Given the description of an element on the screen output the (x, y) to click on. 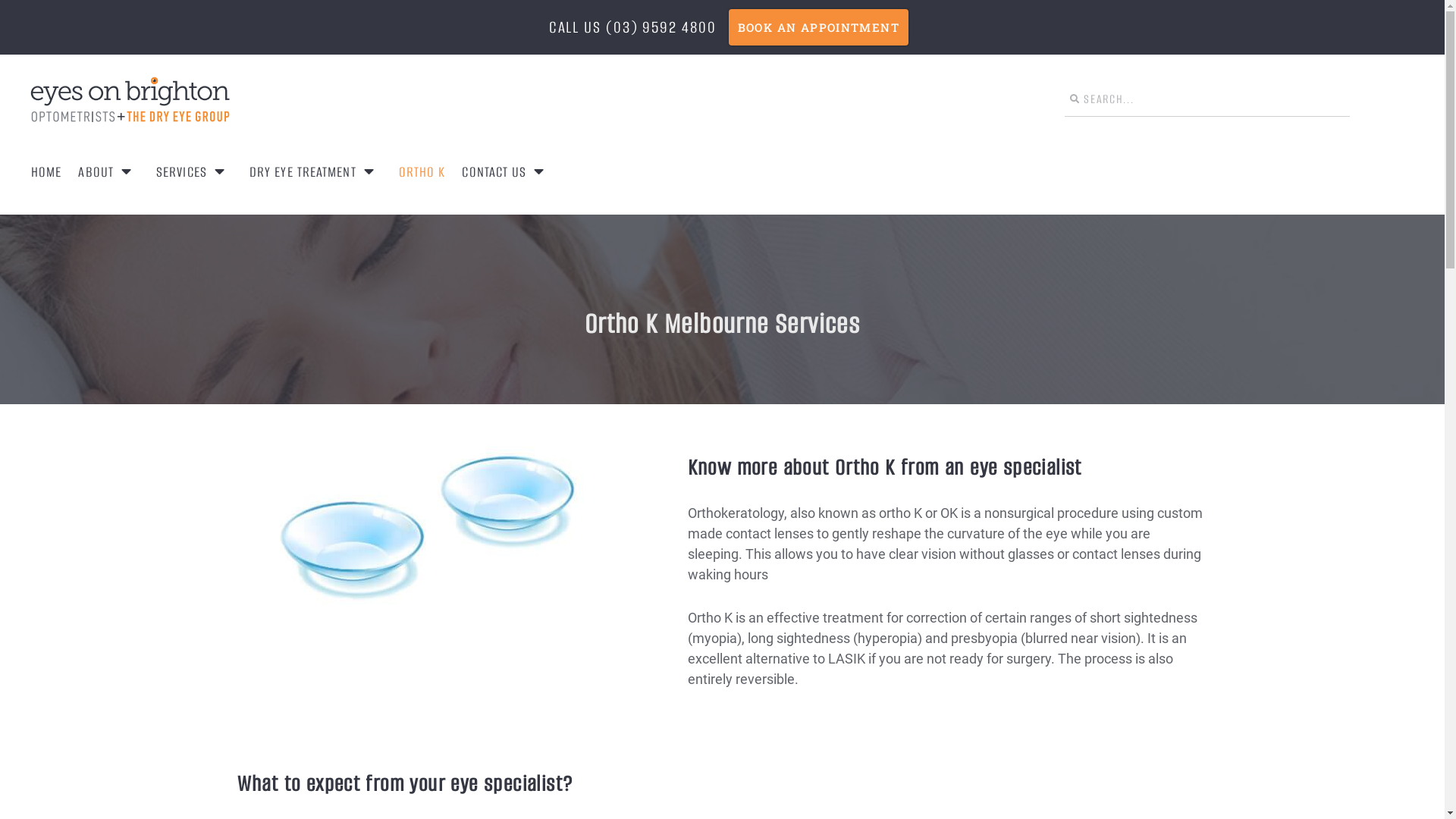
DRY EYE TREATMENT Element type: text (315, 171)
SERVICES Element type: text (194, 171)
ORTHO K Element type: text (422, 171)
CALL US (03) 9592 4800 Element type: text (632, 26)
BOOK AN APPOINTMENT Element type: text (818, 27)
HOME Element type: text (45, 171)
ABOUT Element type: text (108, 171)
CONTACT US Element type: text (506, 171)
Search Element type: hover (1213, 98)
